Given the description of an element on the screen output the (x, y) to click on. 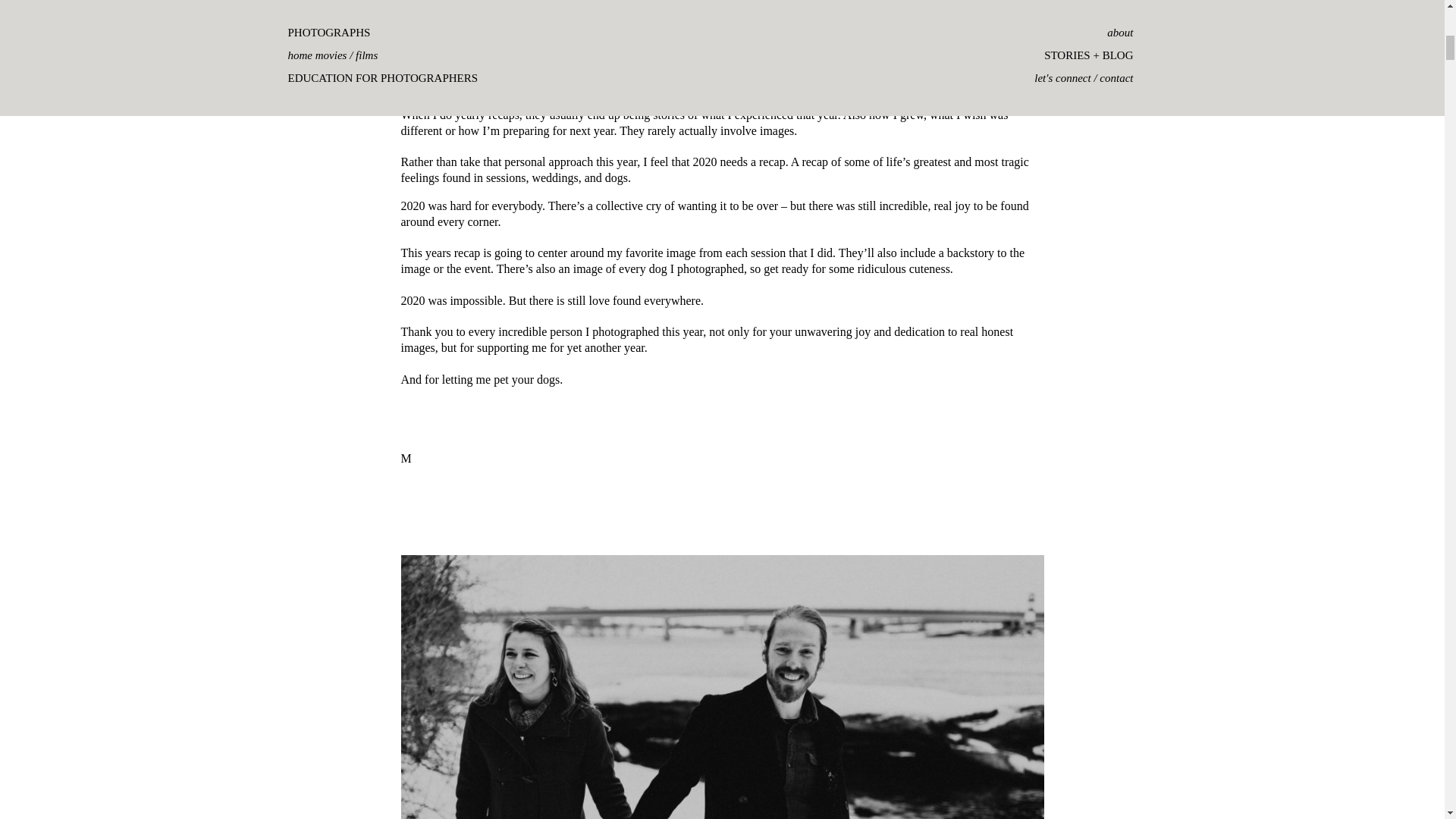
Marriage Stories (563, 16)
Life Stories (497, 16)
Personal (624, 16)
